Given the description of an element on the screen output the (x, y) to click on. 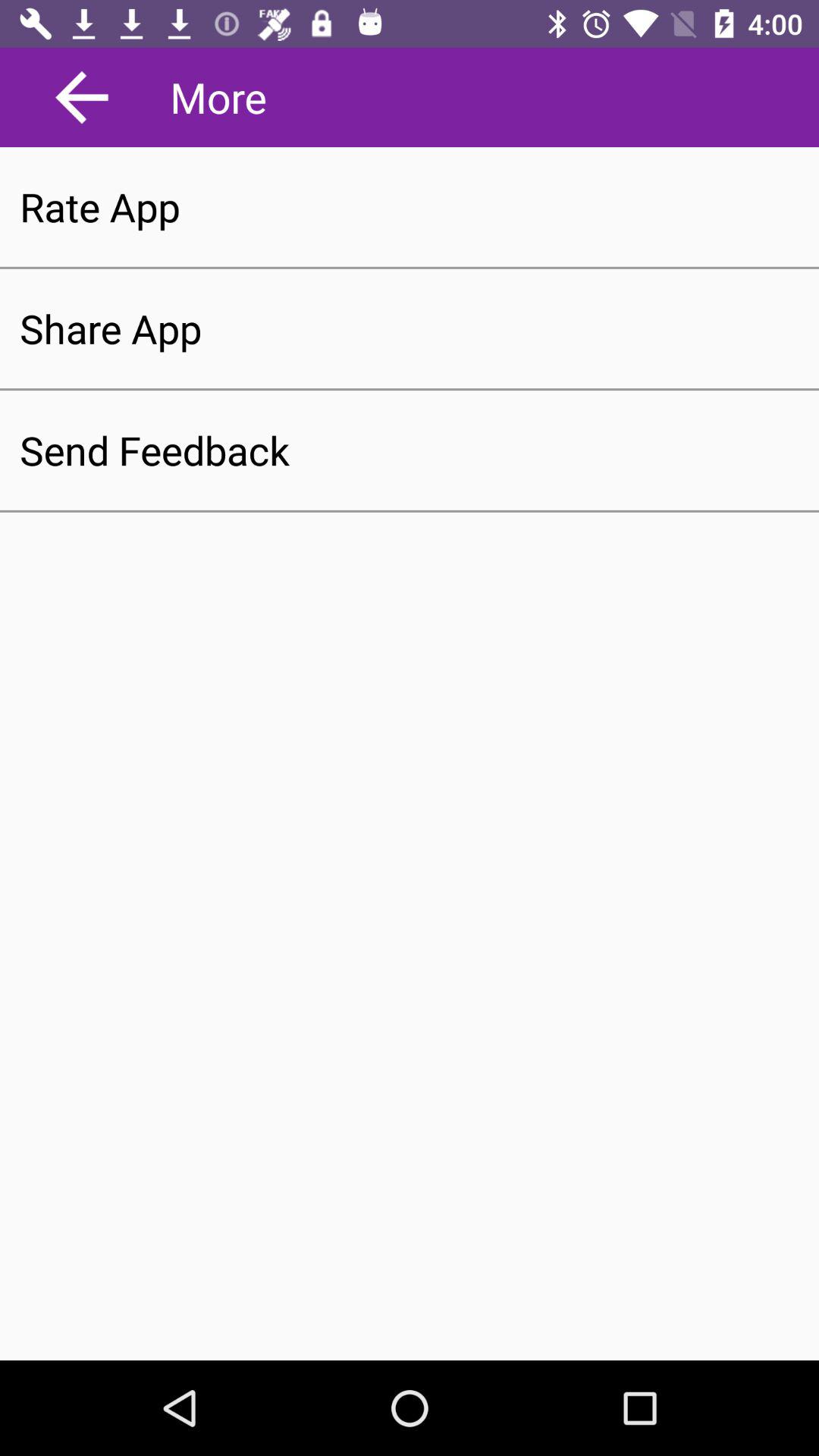
turn on app above rate app item (81, 97)
